Given the description of an element on the screen output the (x, y) to click on. 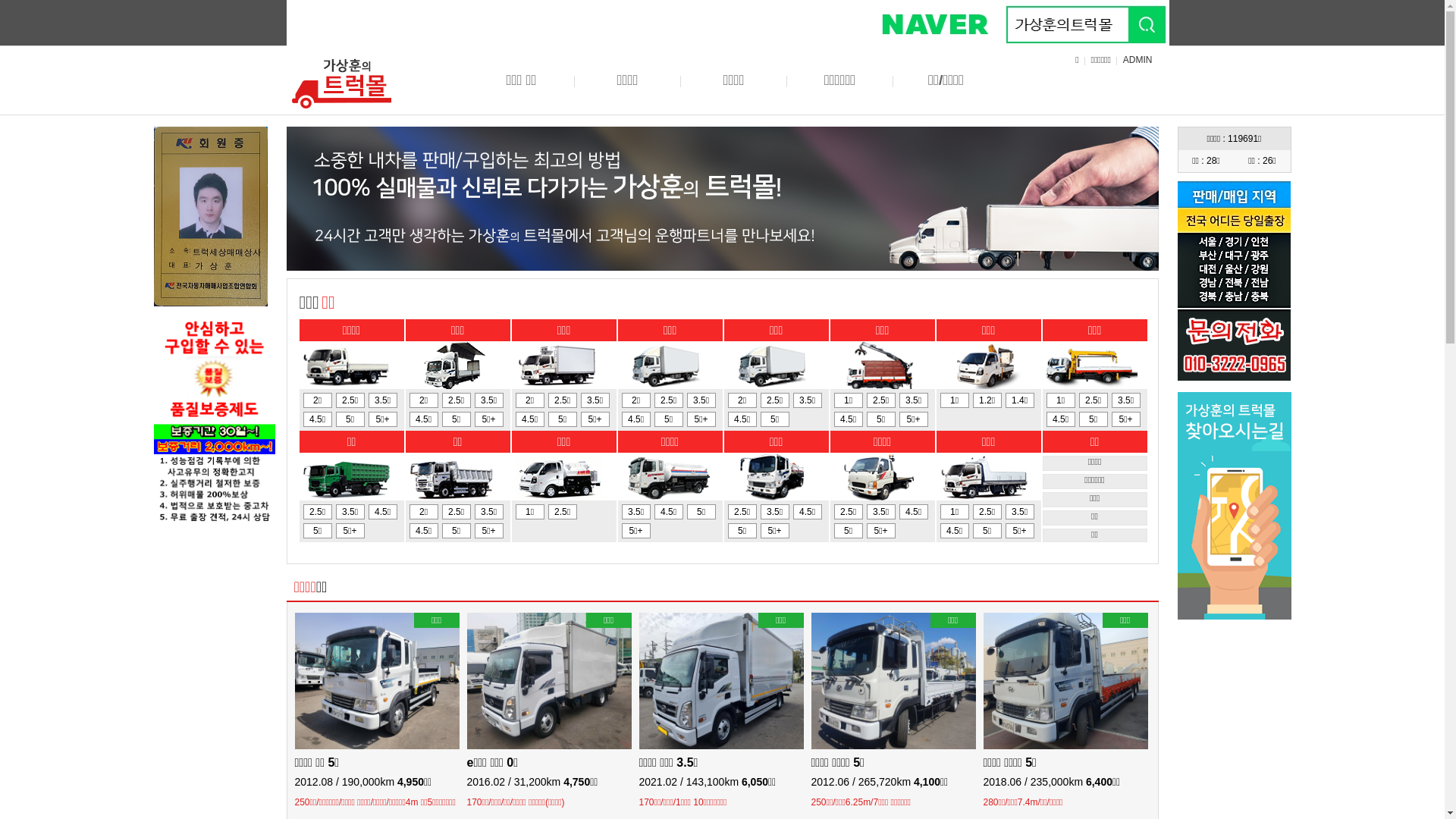
ADMIN Element type: text (1137, 59)
